Given the description of an element on the screen output the (x, y) to click on. 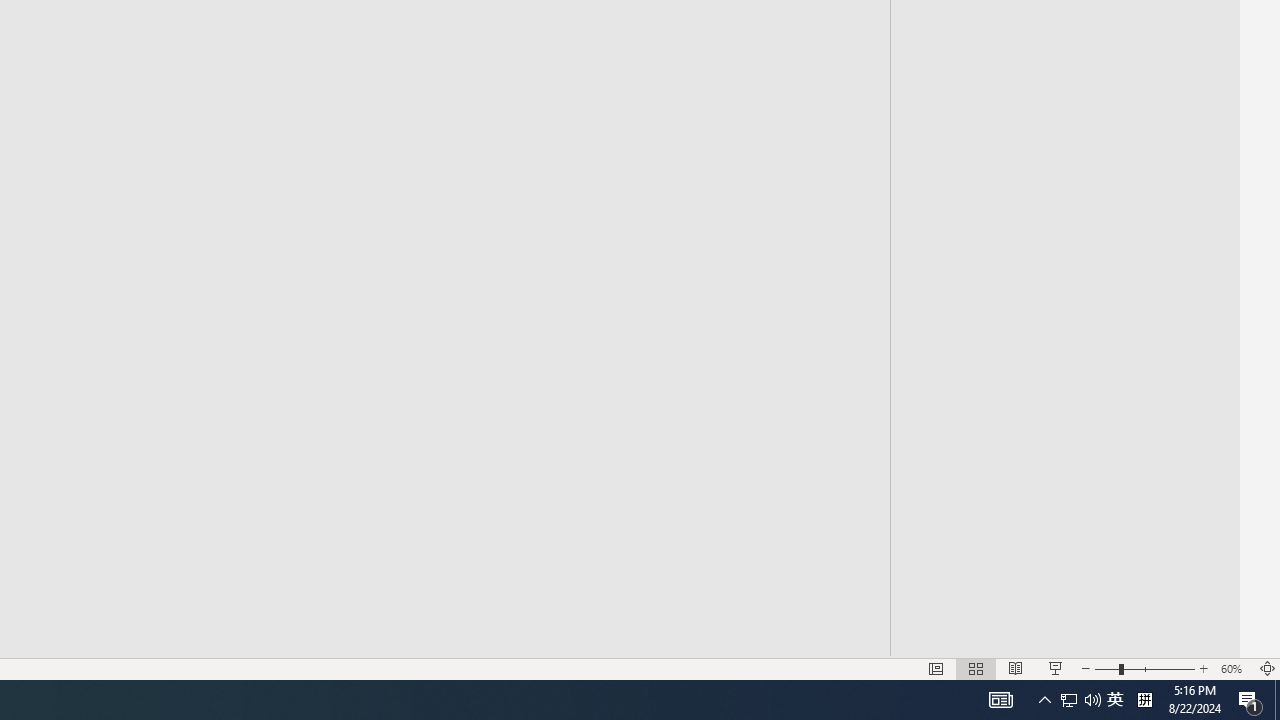
Zoom 60% (1234, 668)
